Given the description of an element on the screen output the (x, y) to click on. 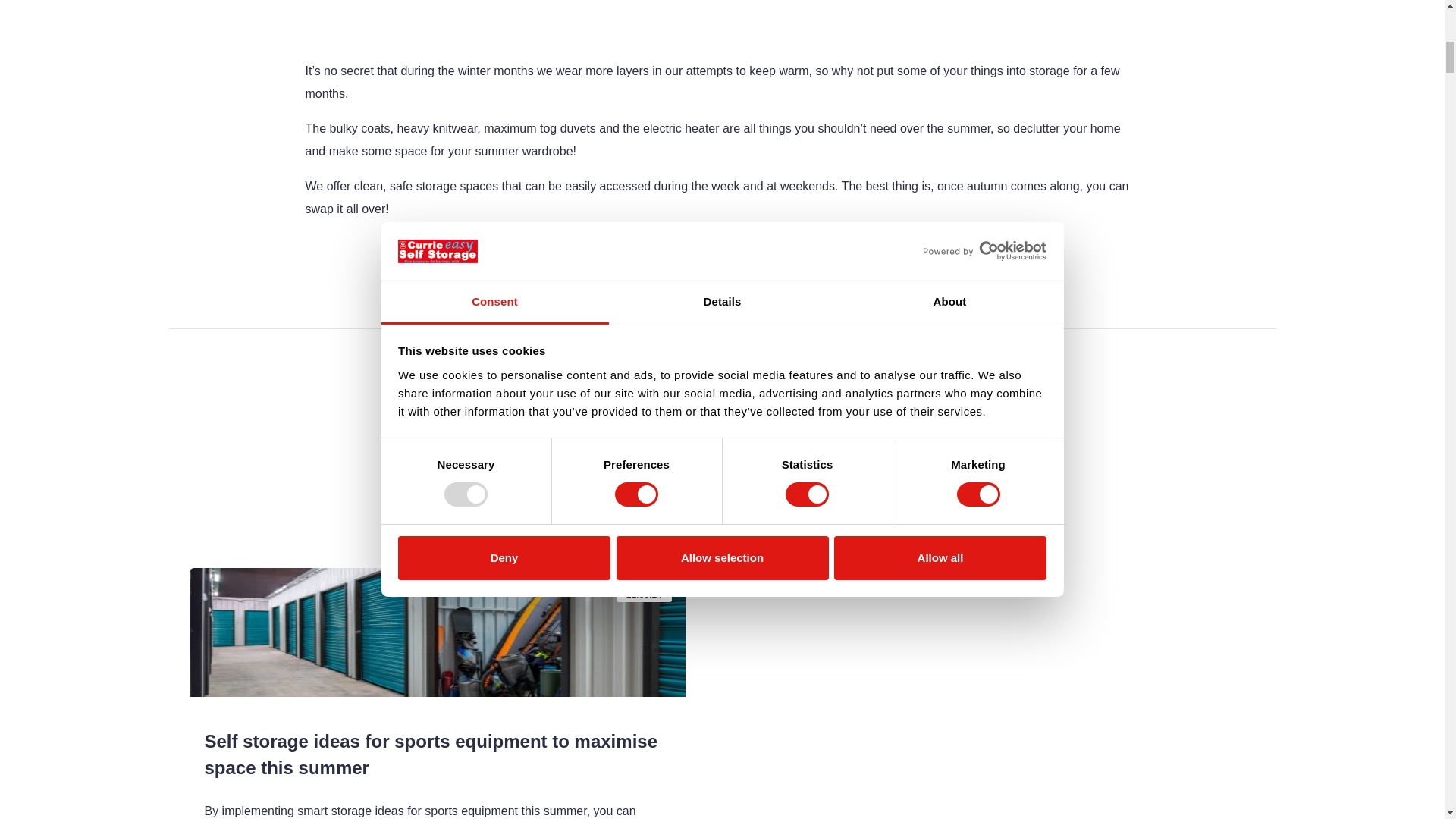
Share on Facebook (748, 482)
Share on twitter (696, 482)
